Given the description of an element on the screen output the (x, y) to click on. 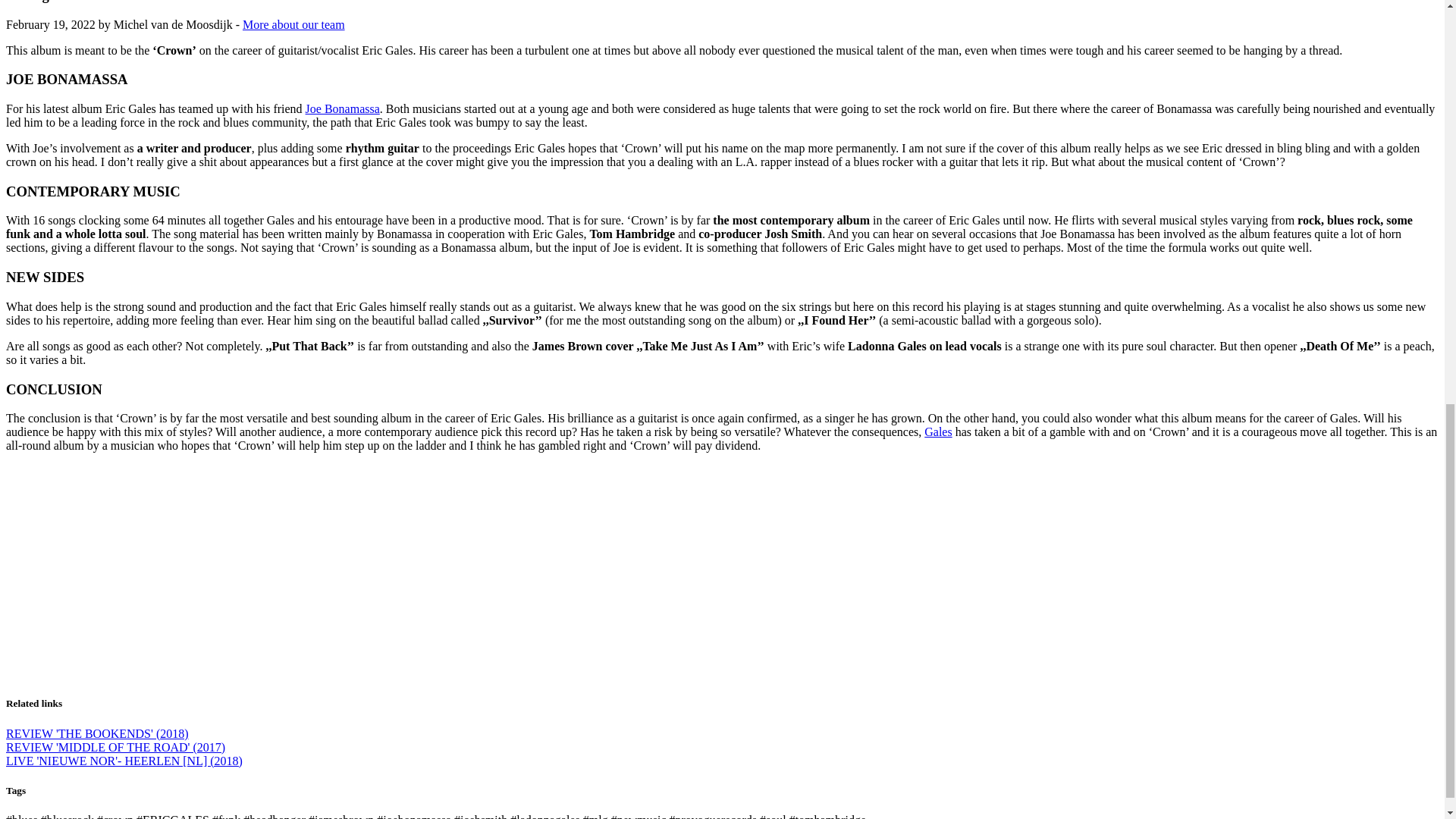
More about our team (294, 24)
Gales (938, 431)
Joe Bonamassa (342, 108)
